Given the description of an element on the screen output the (x, y) to click on. 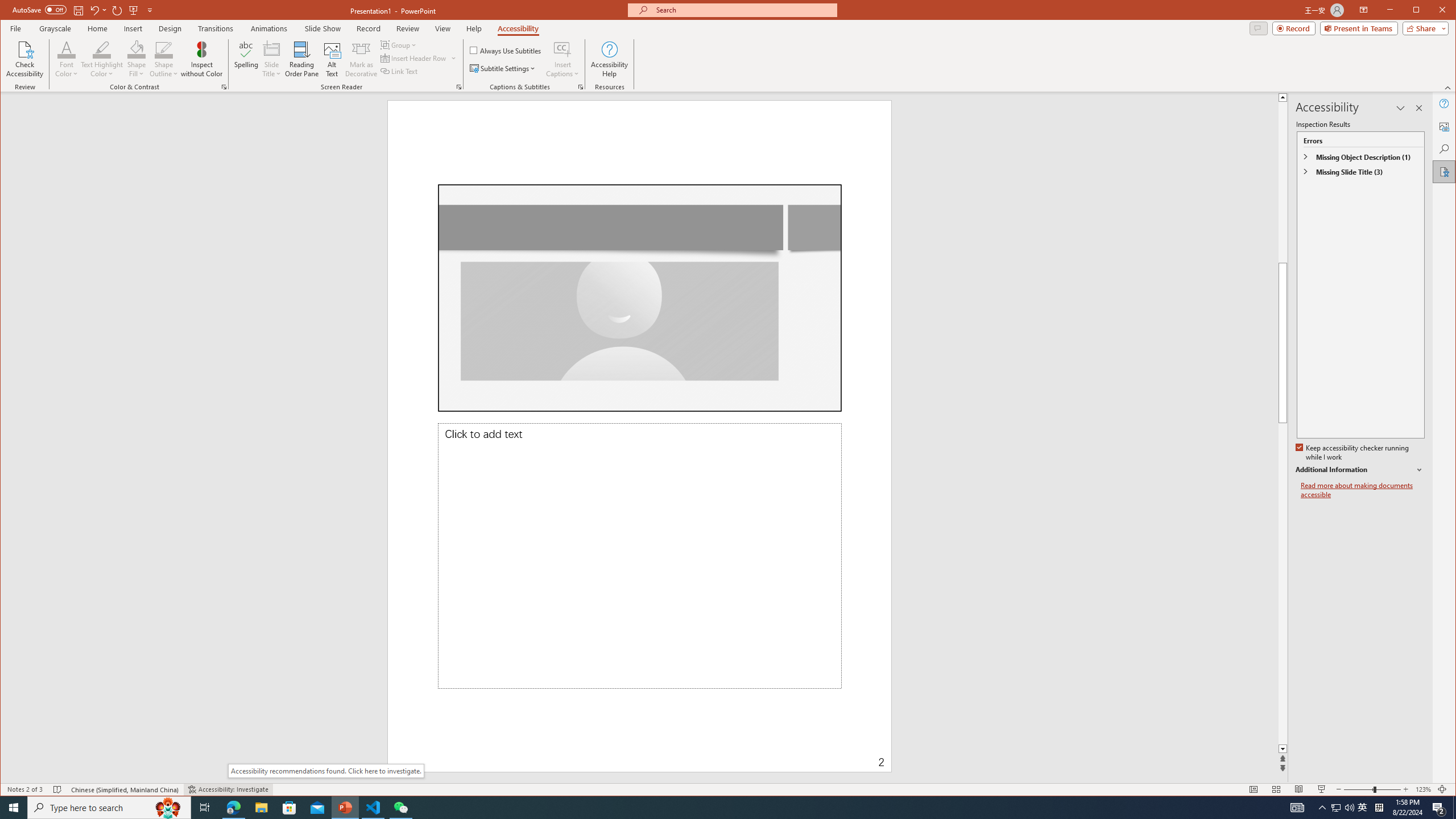
Screen Reader (458, 86)
